Given the description of an element on the screen output the (x, y) to click on. 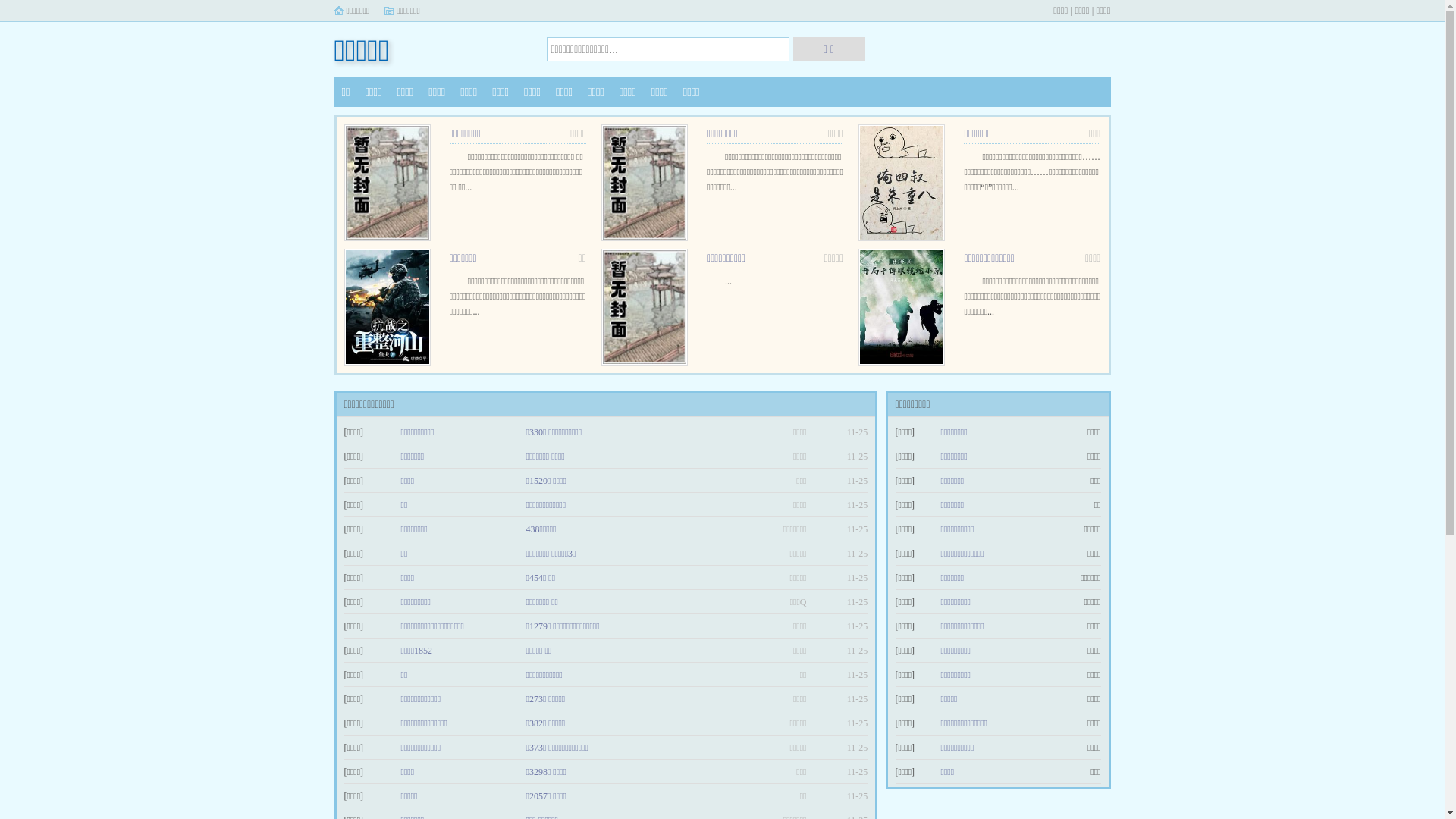
... Element type: text (727, 281)
